Given the description of an element on the screen output the (x, y) to click on. 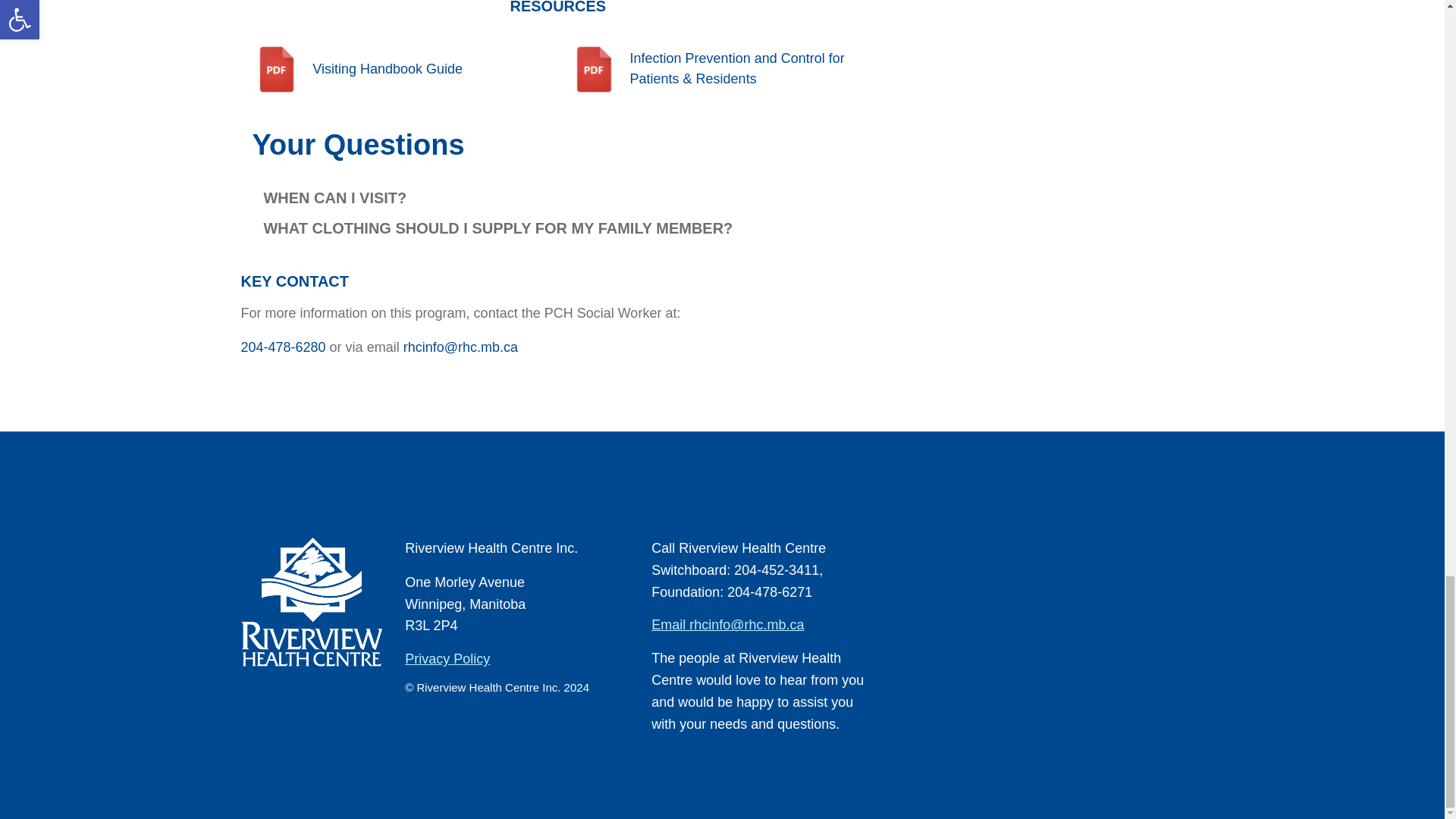
Visiting Handbook Guide (398, 69)
